Given the description of an element on the screen output the (x, y) to click on. 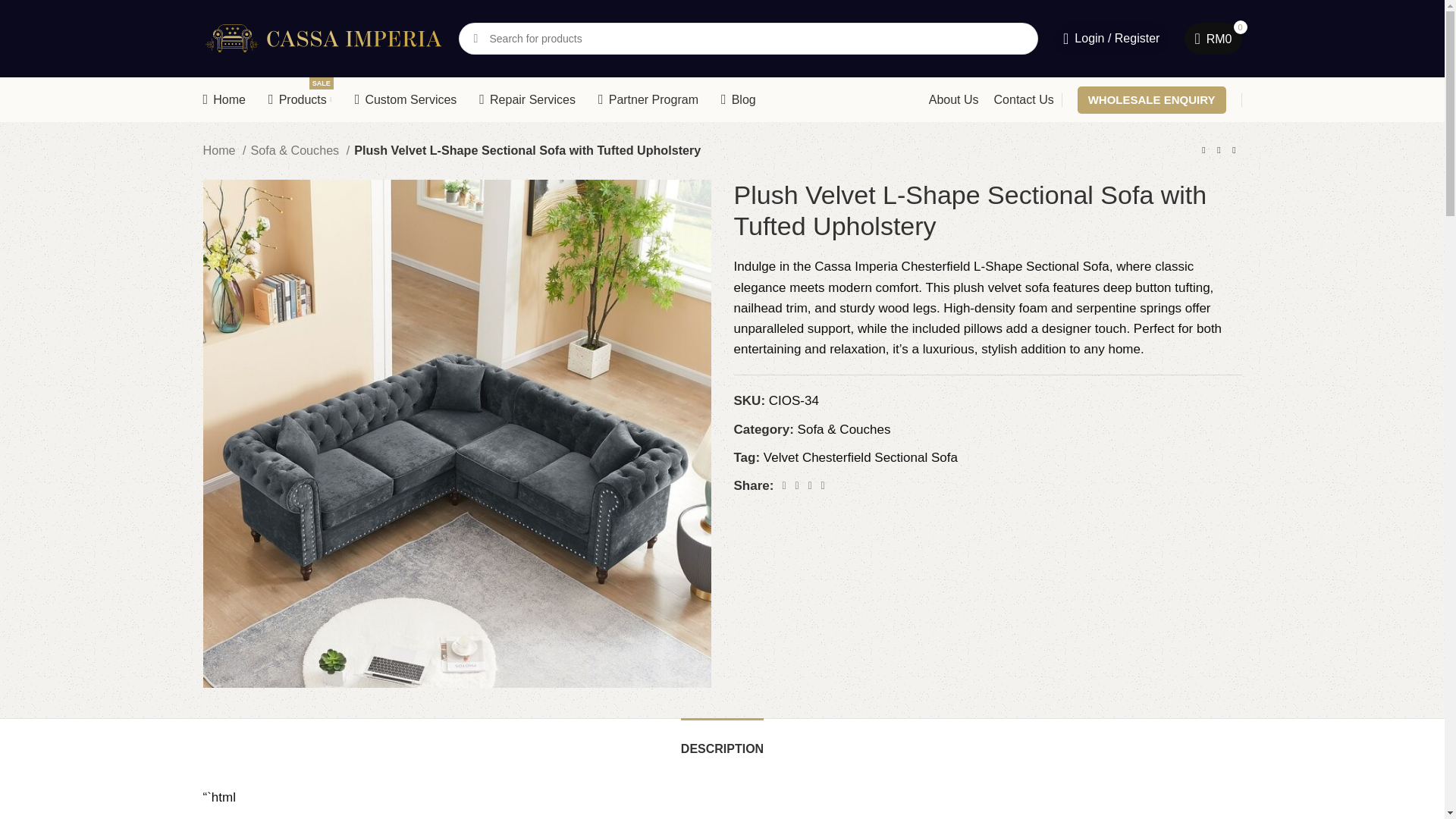
Contact Us (1212, 38)
Shopping cart (1024, 100)
Search for products (299, 100)
SEARCH (1212, 38)
WHOLESALE ENQUIRY (748, 38)
Custom Services (475, 38)
Repair Services (1151, 99)
